Given the description of an element on the screen output the (x, y) to click on. 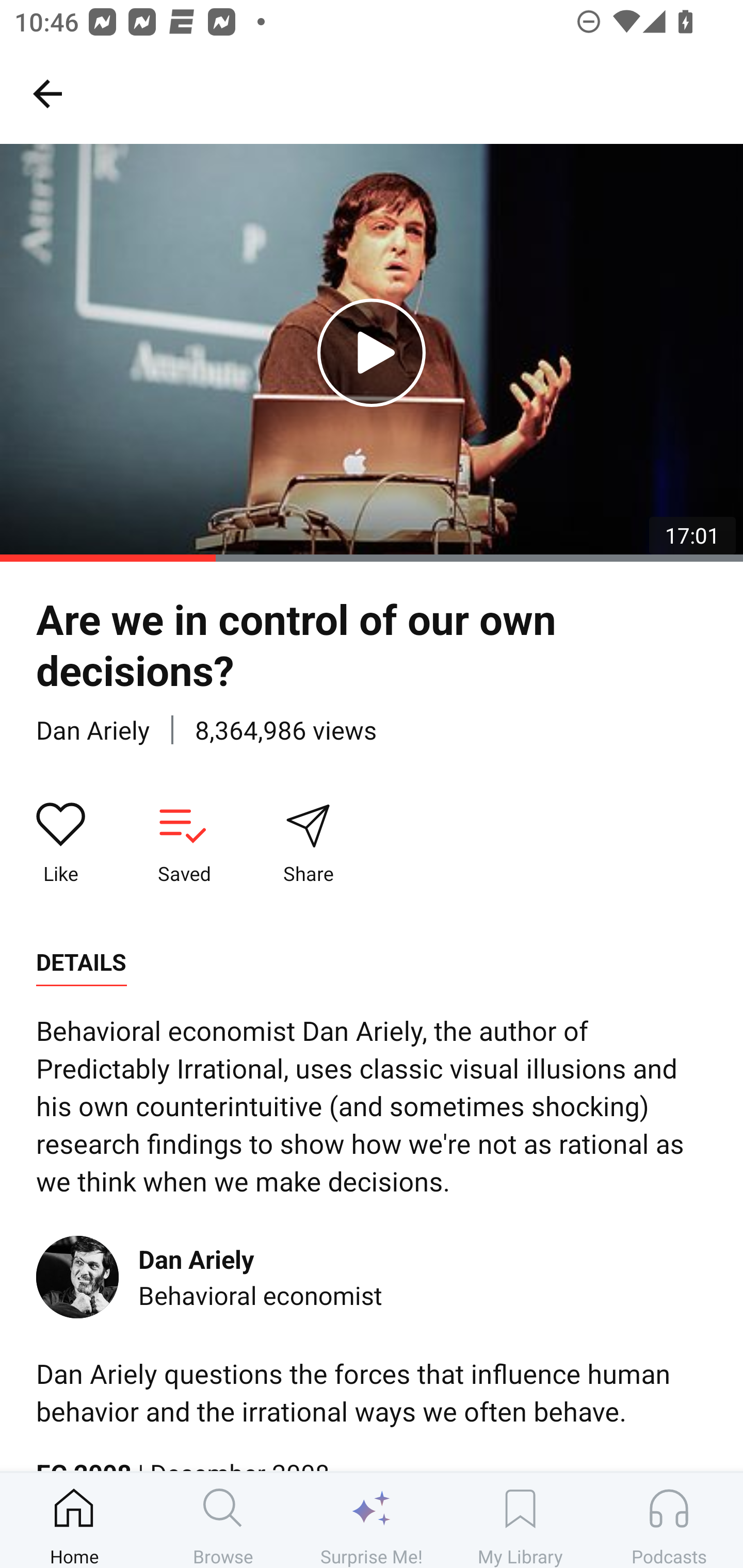
Home, back (47, 92)
Like (60, 843)
Saved (183, 843)
Share (308, 843)
DETAILS (80, 962)
Home (74, 1520)
Browse (222, 1520)
Surprise Me! (371, 1520)
My Library (519, 1520)
Podcasts (668, 1520)
